Given the description of an element on the screen output the (x, y) to click on. 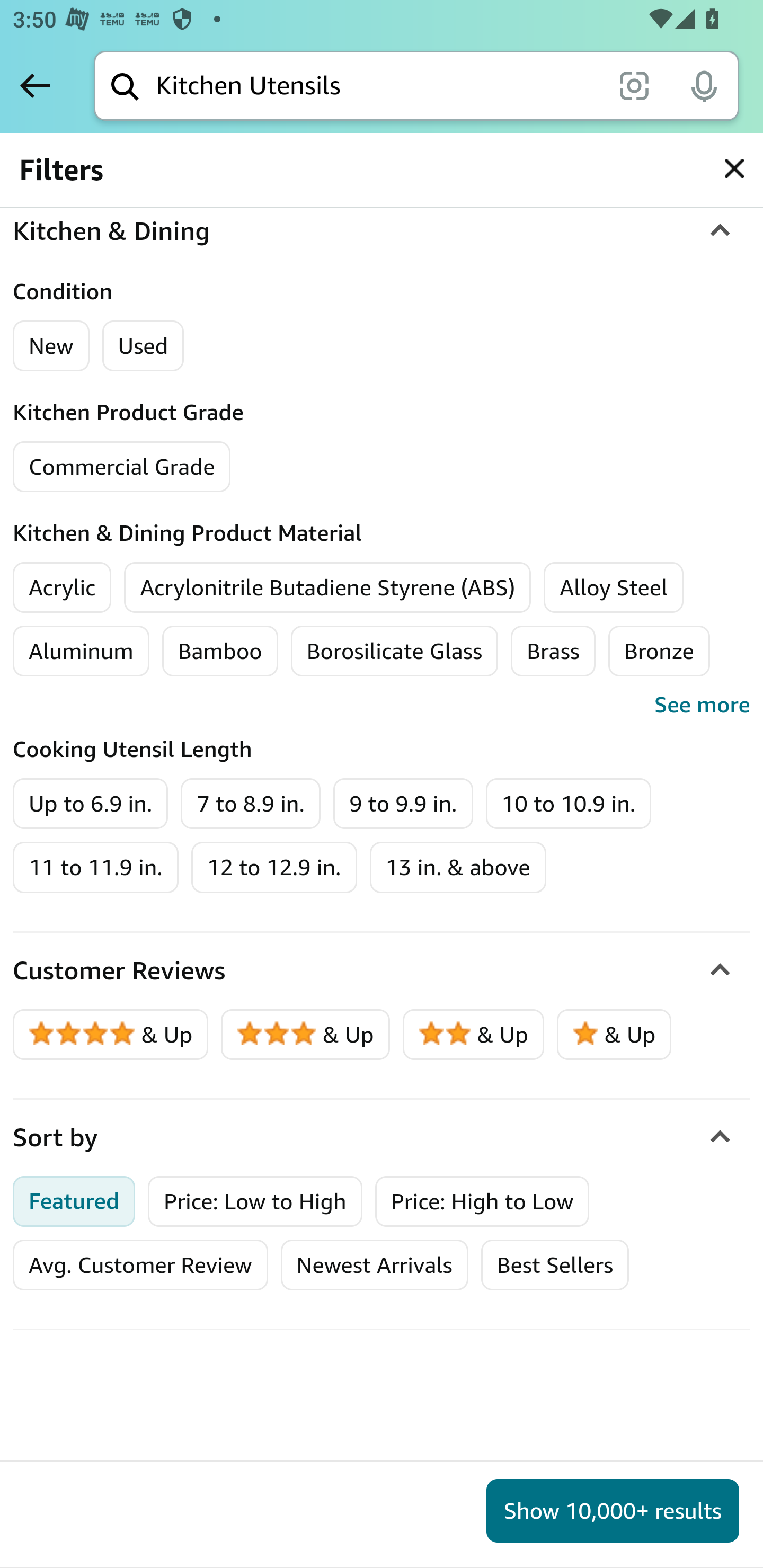
Back (35, 85)
scan it (633, 85)
Kitchen & Dining (381, 230)
New (51, 345)
Used (142, 345)
Commercial Grade (121, 466)
Acrylic (62, 587)
Acrylonitrile Butadiene Styrene (ABS) (327, 587)
Alloy Steel (613, 587)
Aluminum (80, 650)
Bamboo (219, 650)
Borosilicate Glass (394, 650)
Brass (552, 650)
Bronze (658, 650)
Up to 6.9 in. (90, 803)
7 to 8.9 in. (250, 803)
